Given the description of an element on the screen output the (x, y) to click on. 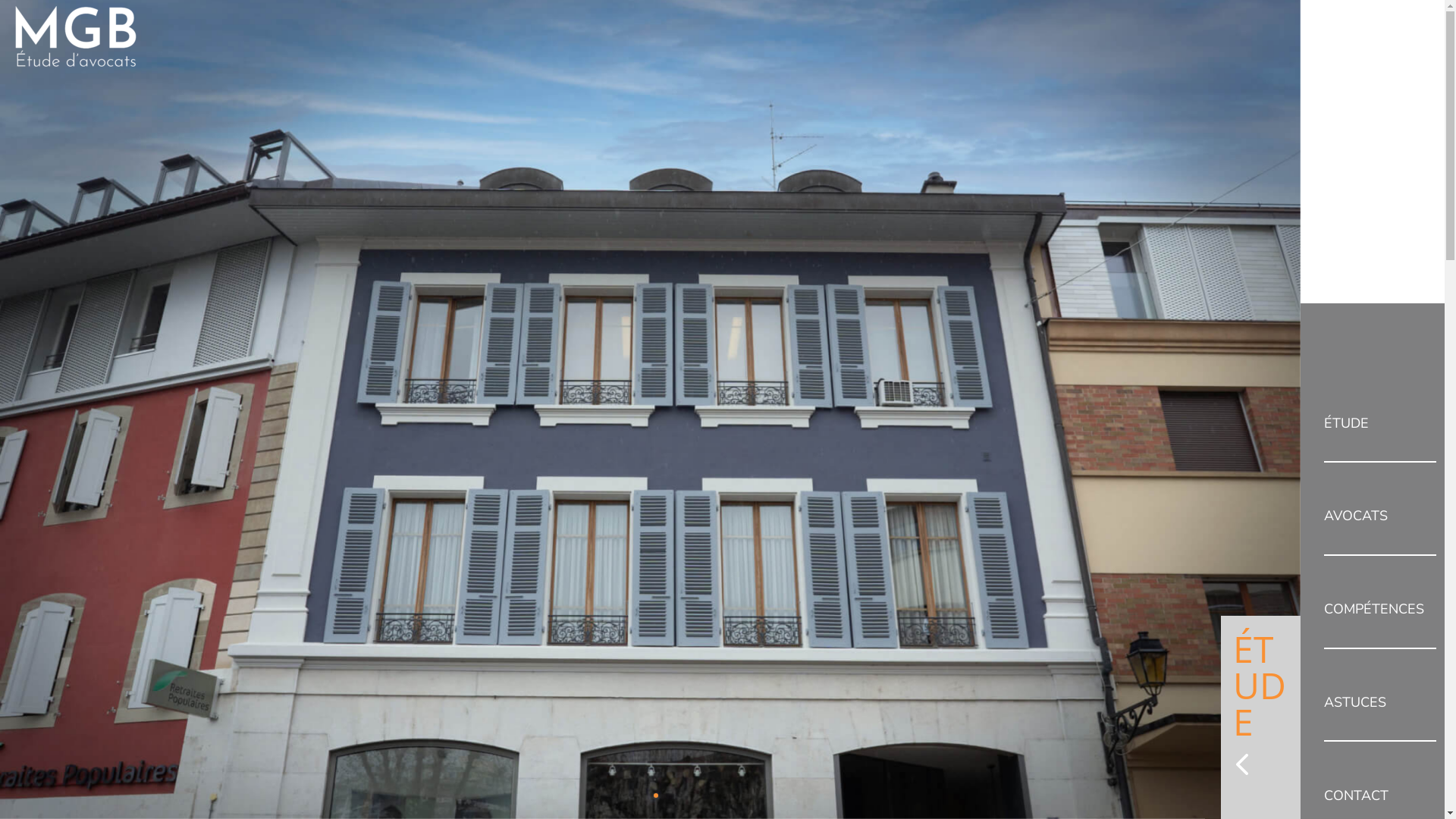
5 Element type: text (679, 795)
ASTUCES Element type: text (1380, 703)
2 Element type: text (643, 795)
1 Element type: text (631, 795)
3 Element type: text (655, 795)
4 Element type: text (667, 795)
AVOCATS Element type: text (1380, 516)
